Given the description of an element on the screen output the (x, y) to click on. 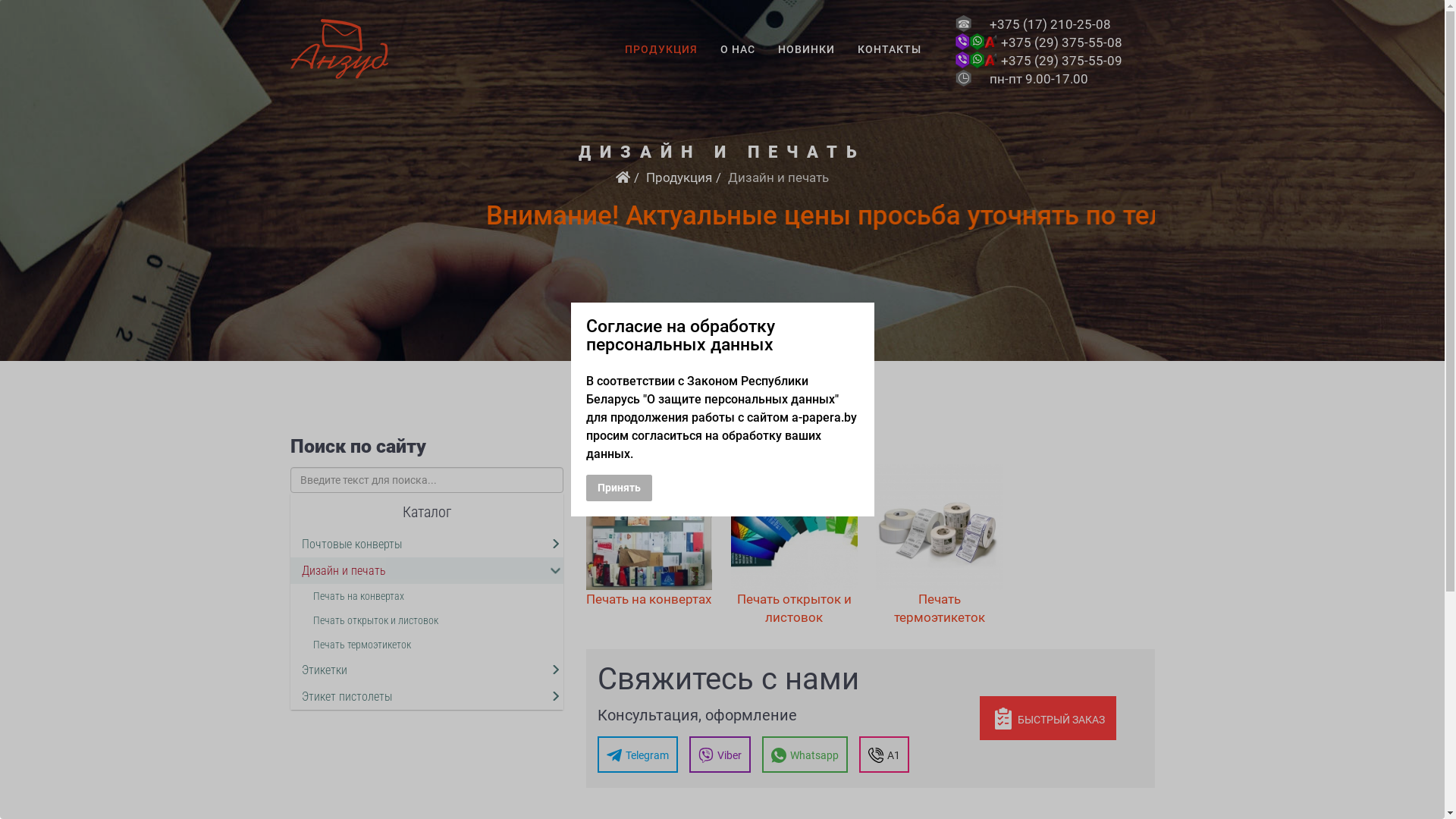
+375 (17) 210-25-08 Element type: text (1049, 23)
Viber Element type: text (718, 753)
Telegram Element type: text (637, 753)
Whatsapp Element type: text (804, 753)
+375 (29) 375-55-08 Element type: text (1061, 42)
+375 (29) 375-55-09 Element type: text (1061, 60)
